Given the description of an element on the screen output the (x, y) to click on. 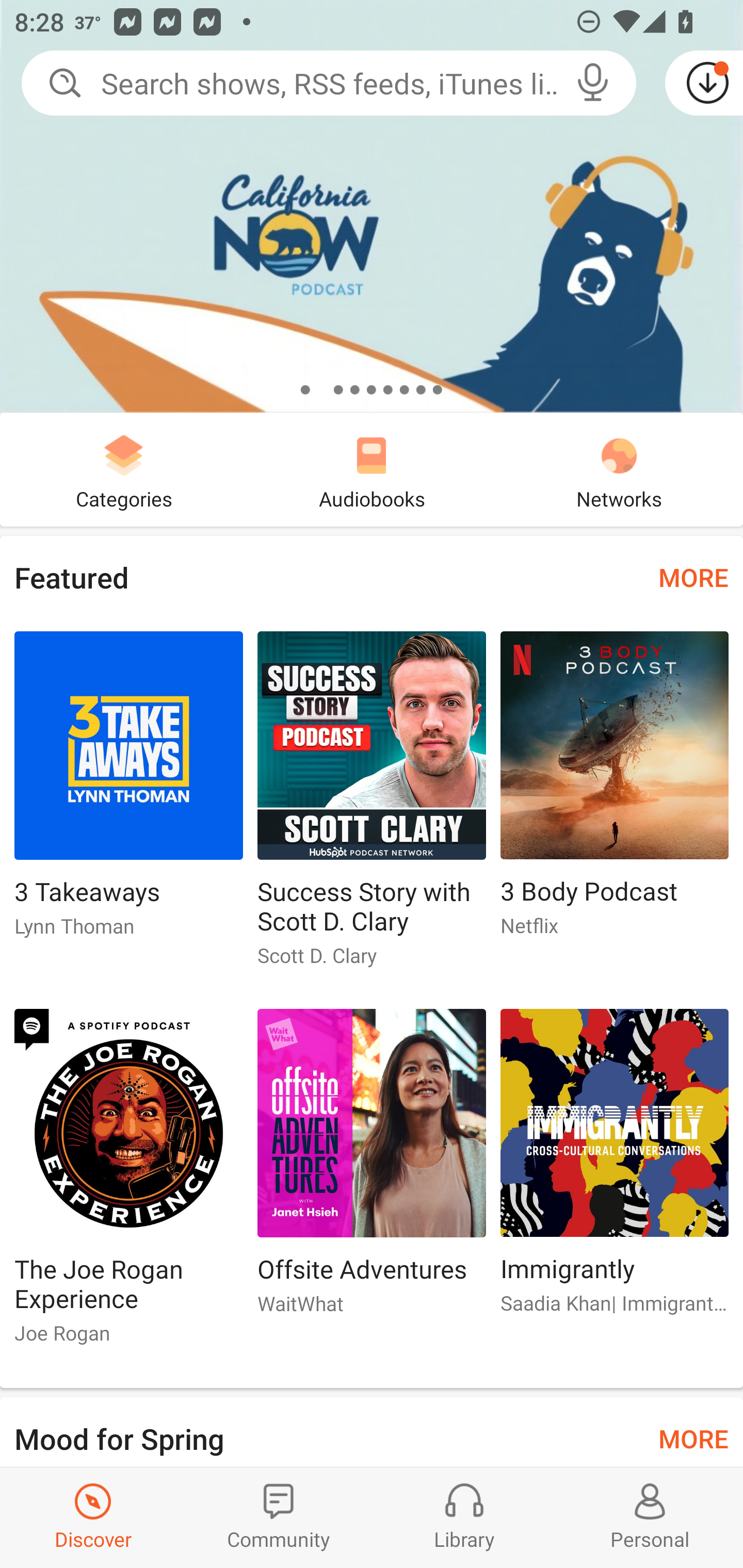
California Now Podcast (371, 206)
Categories (123, 469)
Audiobooks (371, 469)
Networks (619, 469)
MORE (693, 576)
3 Takeaways 3 Takeaways Lynn Thoman (128, 792)
3 Body Podcast 3 Body Podcast Netflix (614, 792)
Offsite Adventures Offsite Adventures WaitWhat (371, 1169)
MORE (693, 1436)
Discover (92, 1517)
Community (278, 1517)
Library (464, 1517)
Profiles and Settings Personal (650, 1517)
